Given the description of an element on the screen output the (x, y) to click on. 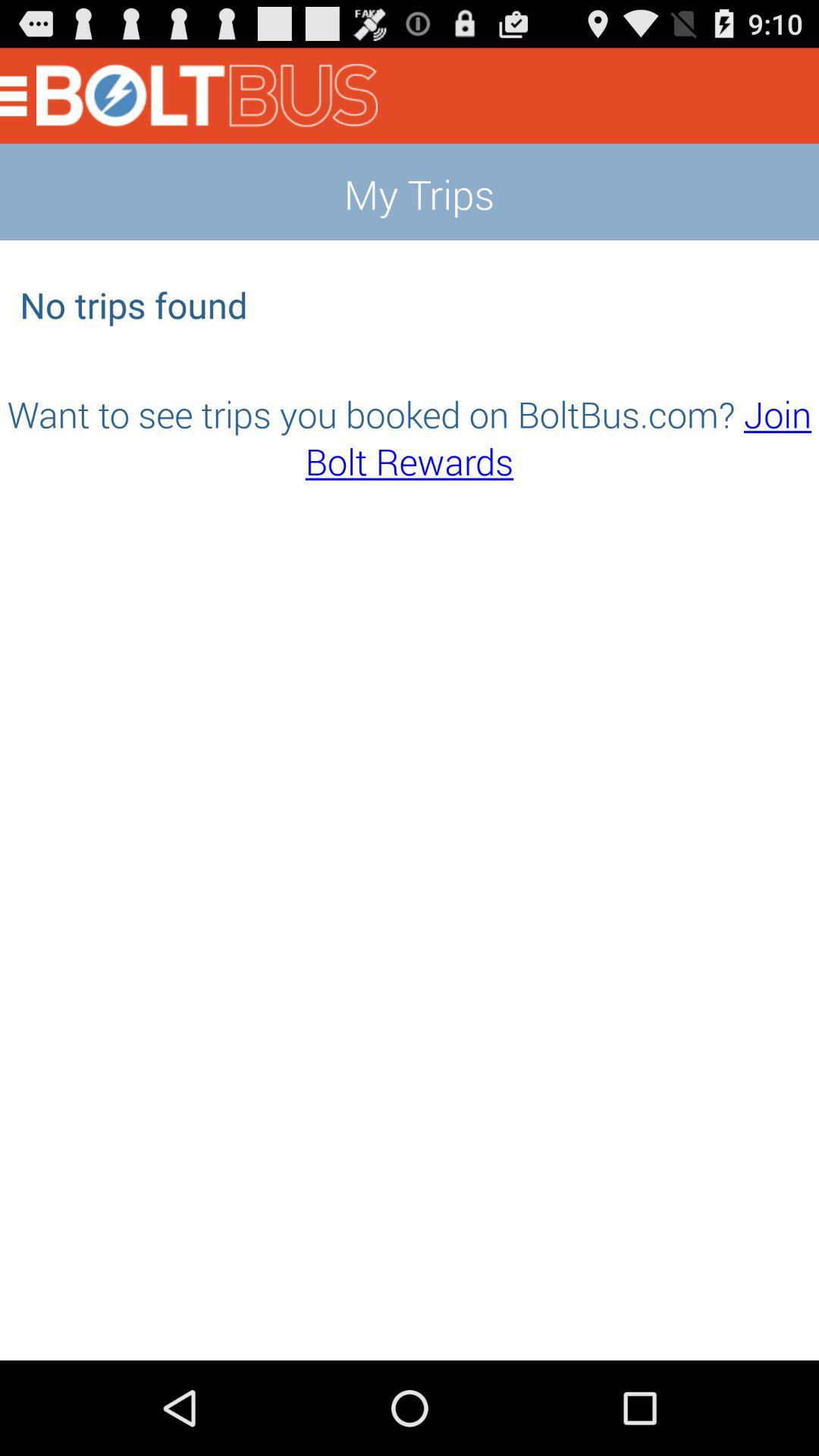
turn off the item below the no trips found app (409, 437)
